Given the description of an element on the screen output the (x, y) to click on. 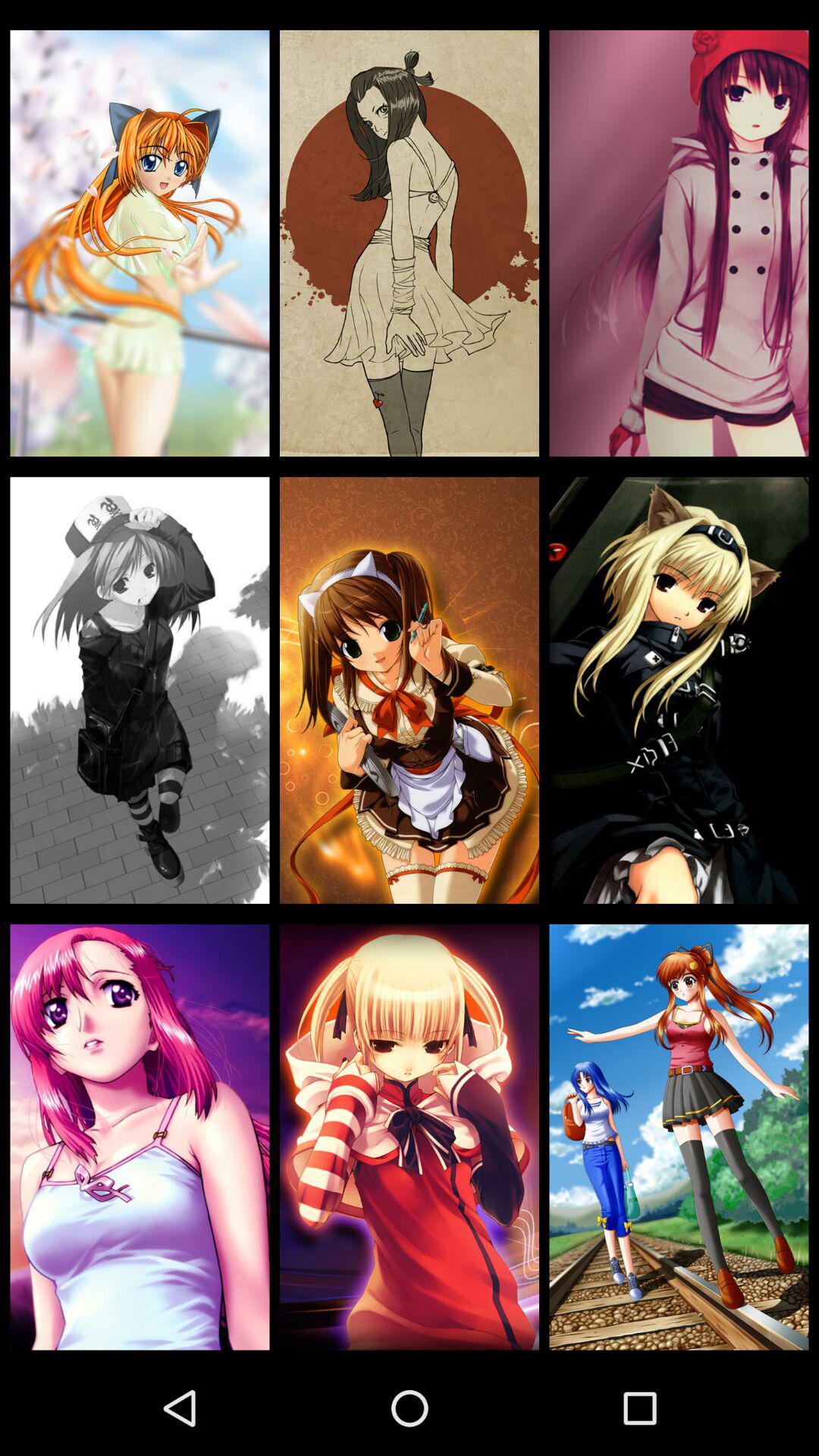
select item at the center (409, 690)
